Given the description of an element on the screen output the (x, y) to click on. 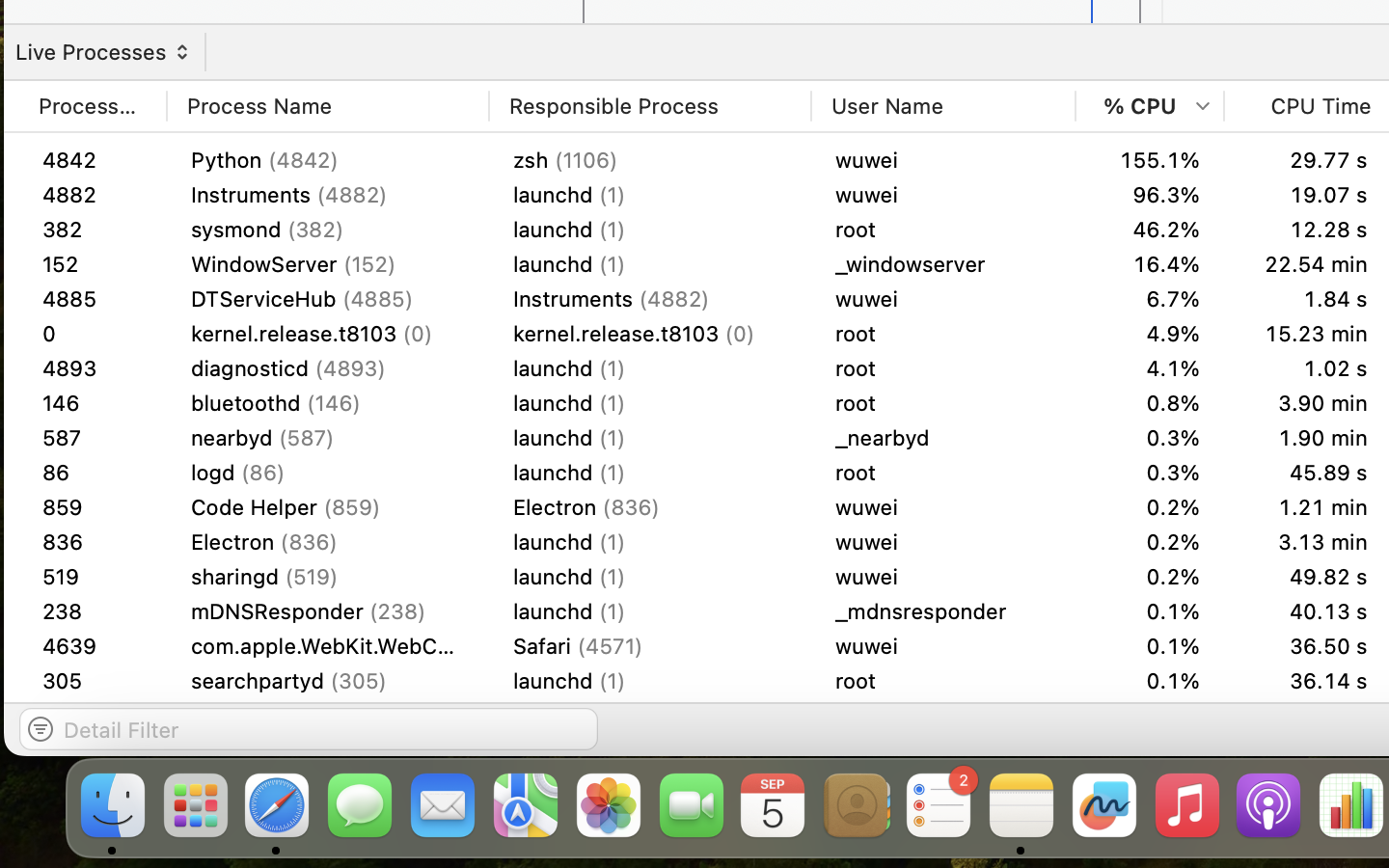
1.7% Element type: AXStaticText (1149, 402)
108.9% Element type: AXStaticText (1149, 194)
658 Element type: AXStaticText (92, 611)
Live Processes Element type: AXPopUpButton (99, 51)
2.7% Element type: AXStaticText (1149, 333)
